Given the description of an element on the screen output the (x, y) to click on. 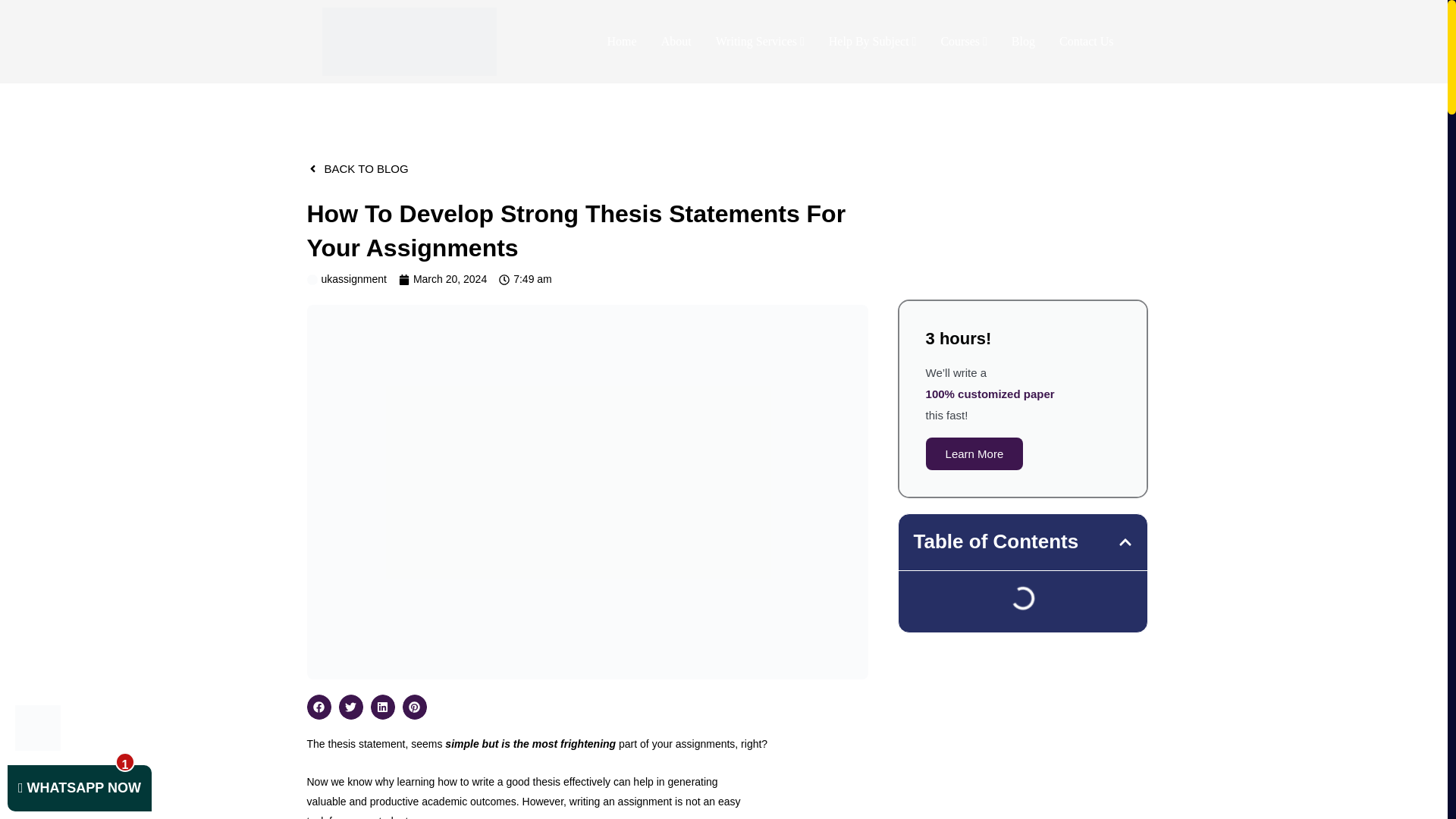
Home (622, 41)
Writing Services (759, 41)
About (676, 41)
Blog (1022, 41)
Courses (963, 41)
Help By Subject (872, 41)
Contact Us (1085, 41)
